Given the description of an element on the screen output the (x, y) to click on. 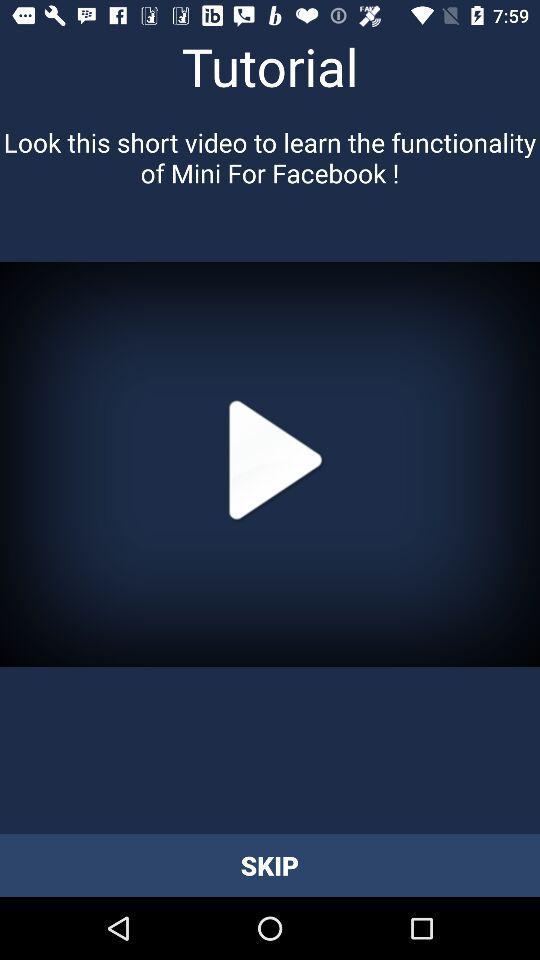
autoplay icon option (270, 464)
